Given the description of an element on the screen output the (x, y) to click on. 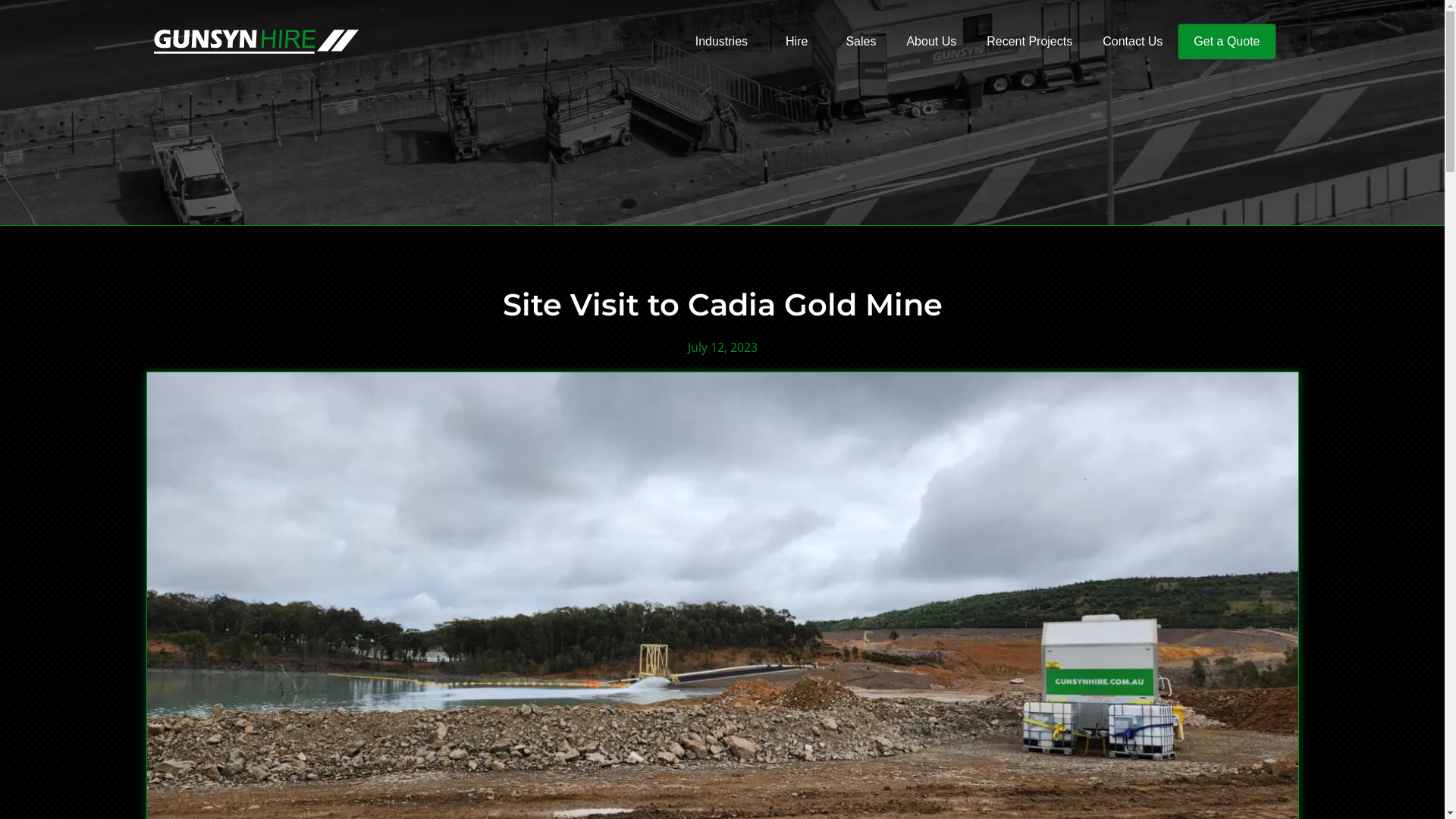
Hire Element type: text (800, 41)
Industries Element type: text (725, 41)
Sales Element type: text (860, 41)
About Us Element type: text (931, 41)
Recent Projects Element type: text (1029, 41)
Contact Us Element type: text (1132, 41)
Get a Quote Element type: text (1226, 41)
July 12, 2023 Element type: text (721, 347)
